Given the description of an element on the screen output the (x, y) to click on. 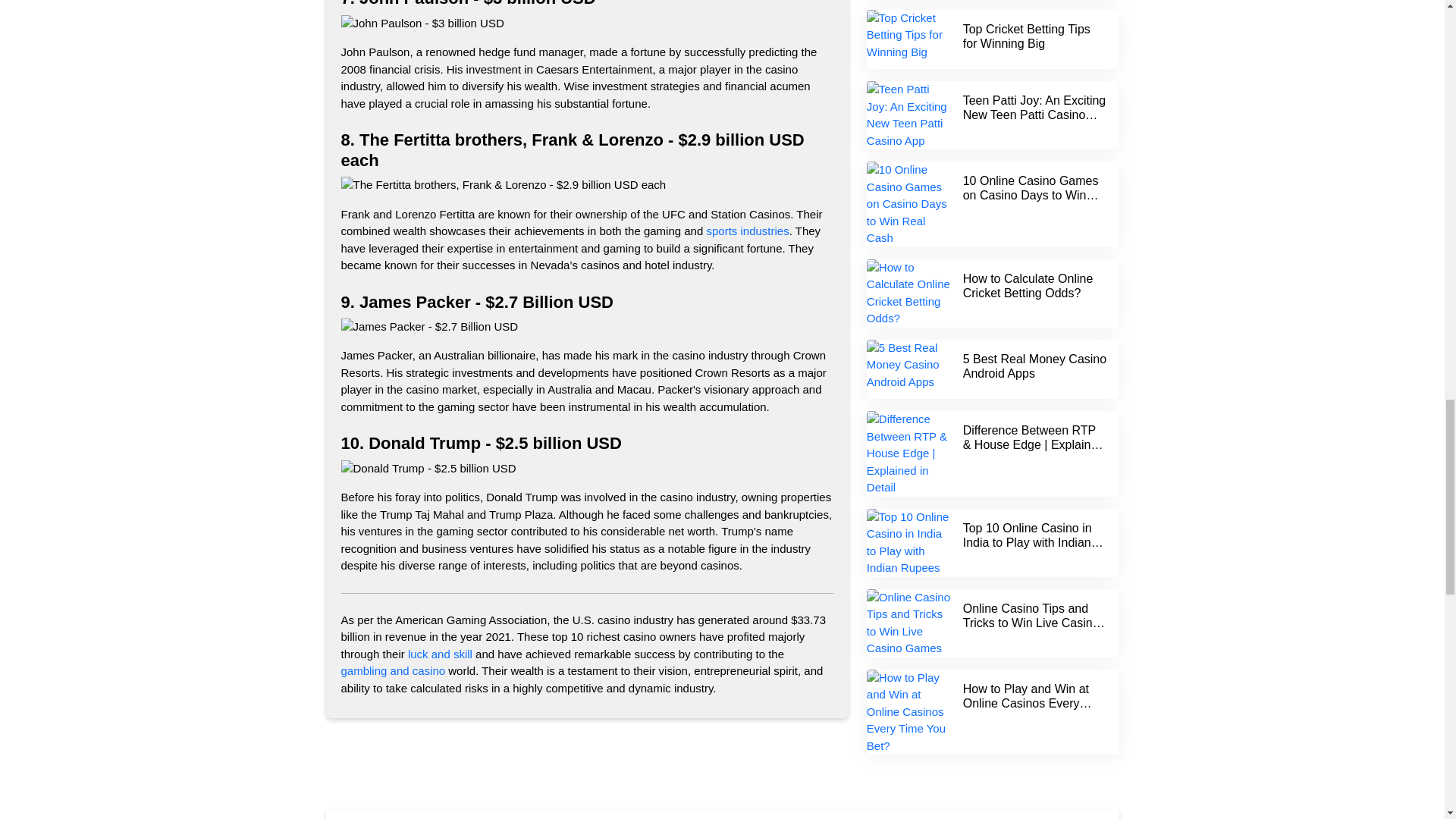
luck and skill (439, 653)
gambling and casino (392, 670)
sports industries (747, 230)
